Given the description of an element on the screen output the (x, y) to click on. 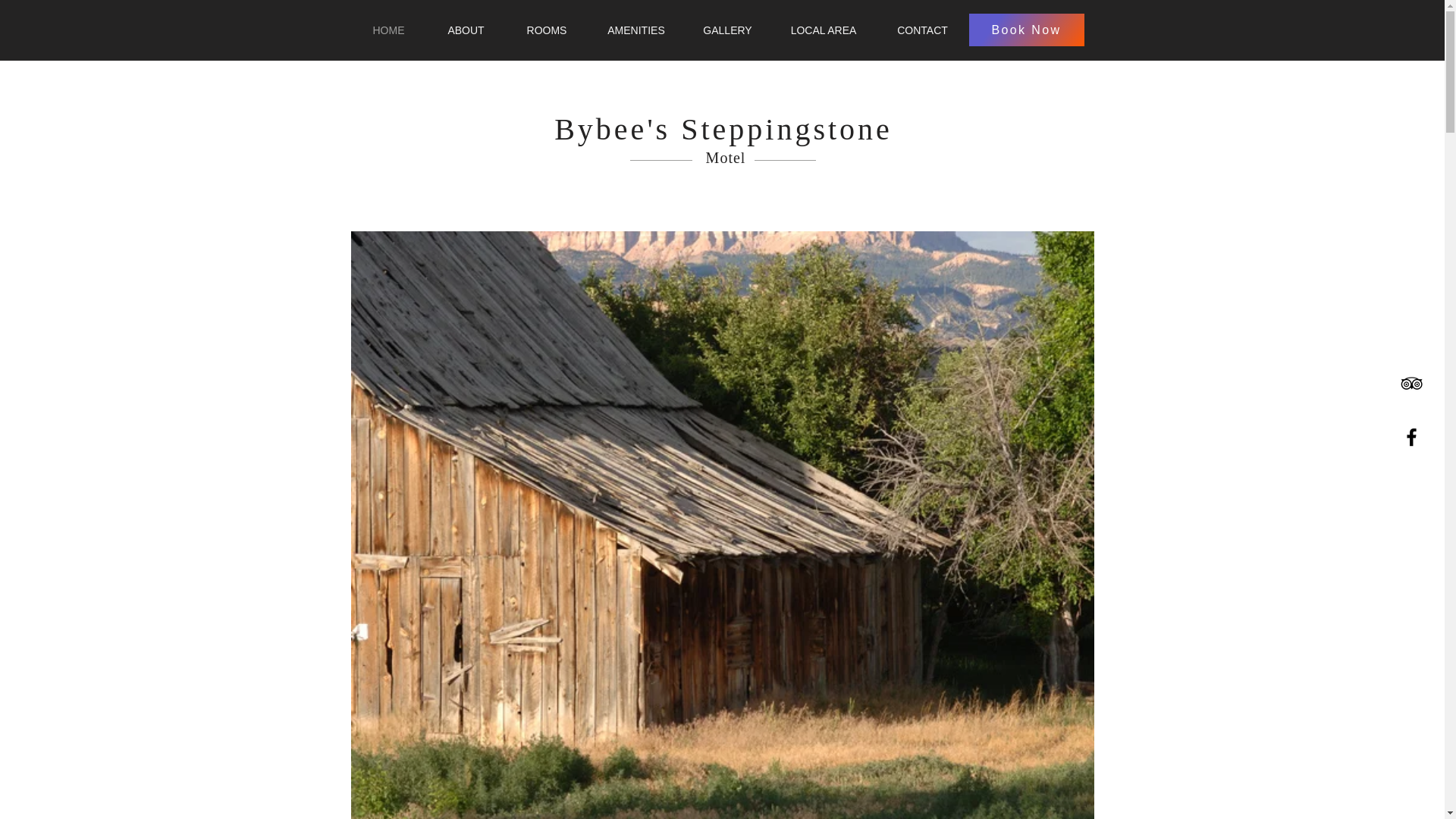
ABOUT (465, 29)
Book Now (1026, 29)
CONTACT (922, 29)
LOCAL AREA (823, 29)
AMENITIES (636, 29)
GALLERY (727, 29)
ROOMS (546, 29)
HOME (388, 29)
